Given the description of an element on the screen output the (x, y) to click on. 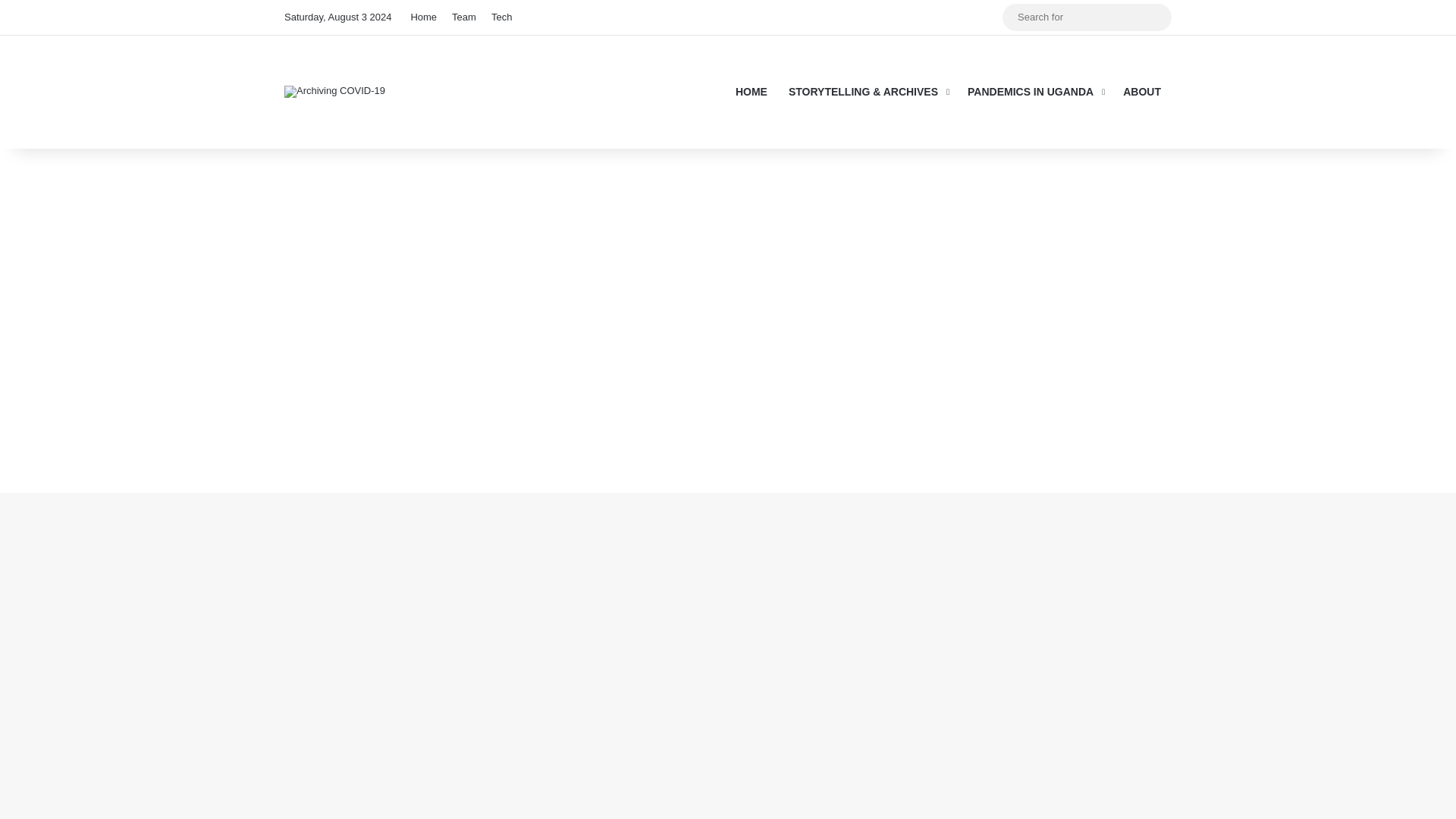
Team (463, 17)
Tech (501, 17)
PANDEMICS IN UGANDA (1034, 91)
Search for (1156, 17)
Home (423, 17)
Archiving COVID-19 (334, 91)
Search for (1087, 17)
